Given the description of an element on the screen output the (x, y) to click on. 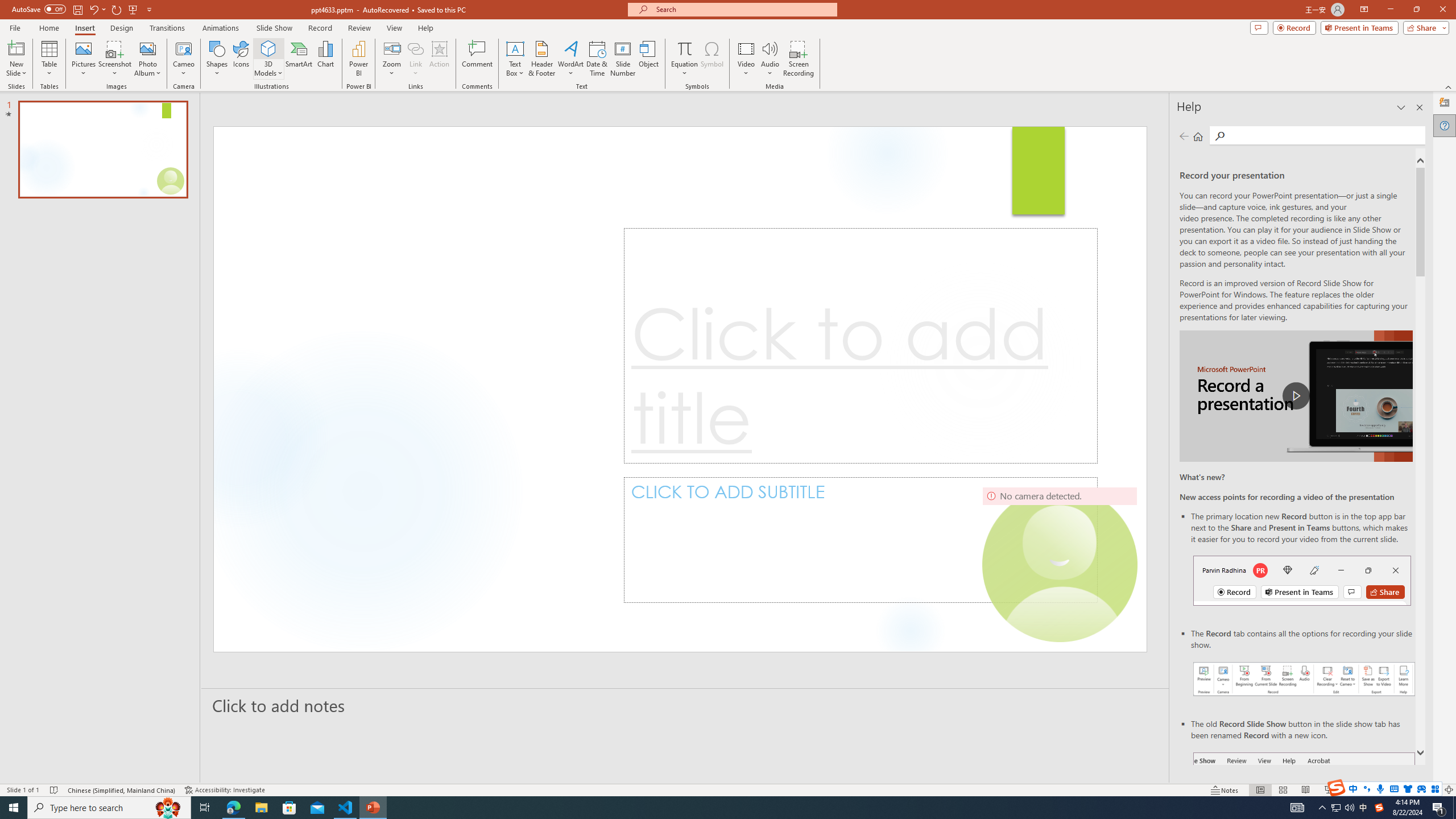
Shapes (216, 58)
Object... (649, 58)
play Record a Presentation (1296, 395)
Link (415, 58)
